Given the description of an element on the screen output the (x, y) to click on. 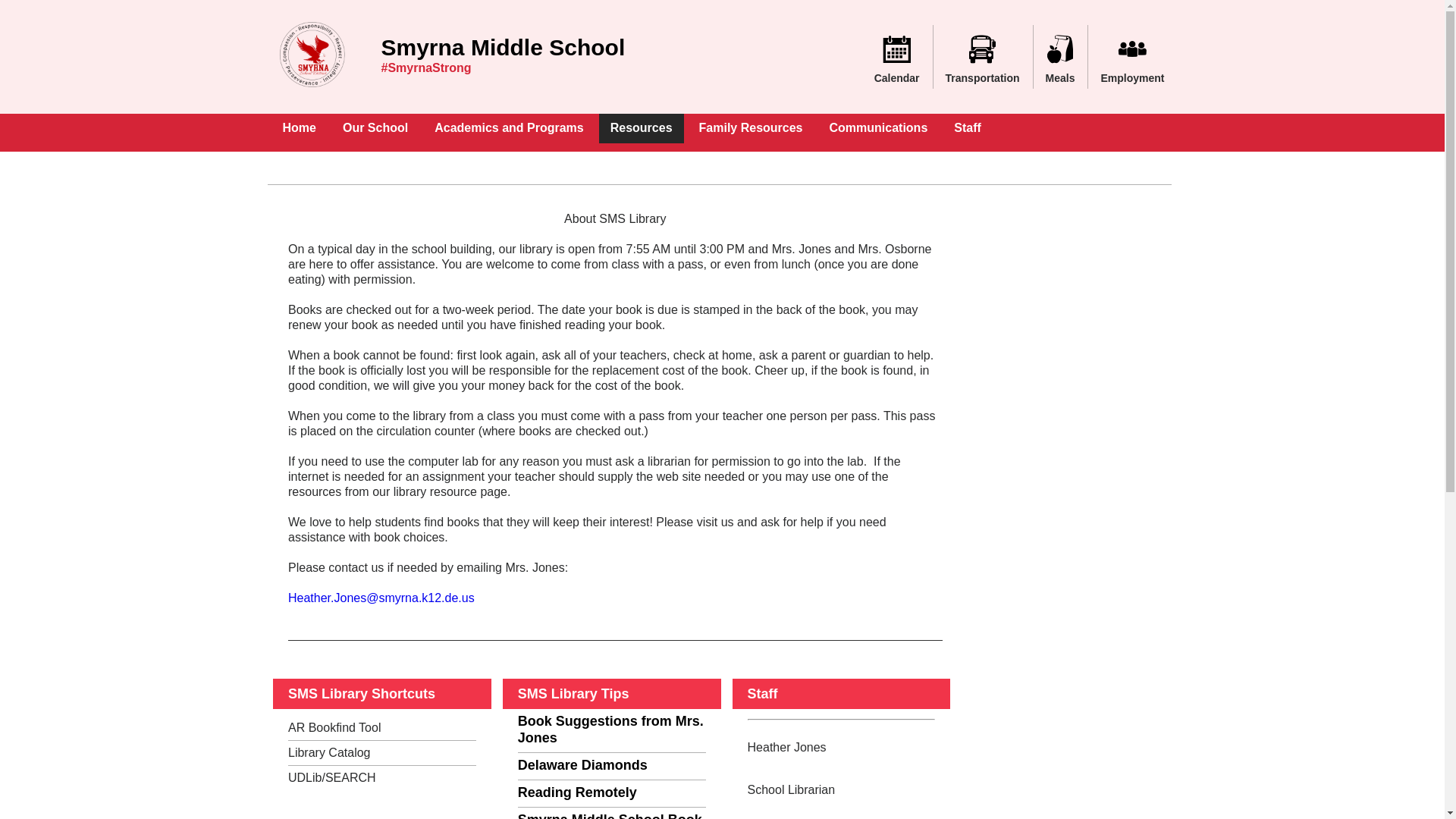
Our School (375, 128)
Academics and Programs (509, 128)
Smyrna Middle School (502, 47)
Home (298, 128)
Smyrna Middle School (502, 47)
Smyrna Middle School (312, 56)
